Given the description of an element on the screen output the (x, y) to click on. 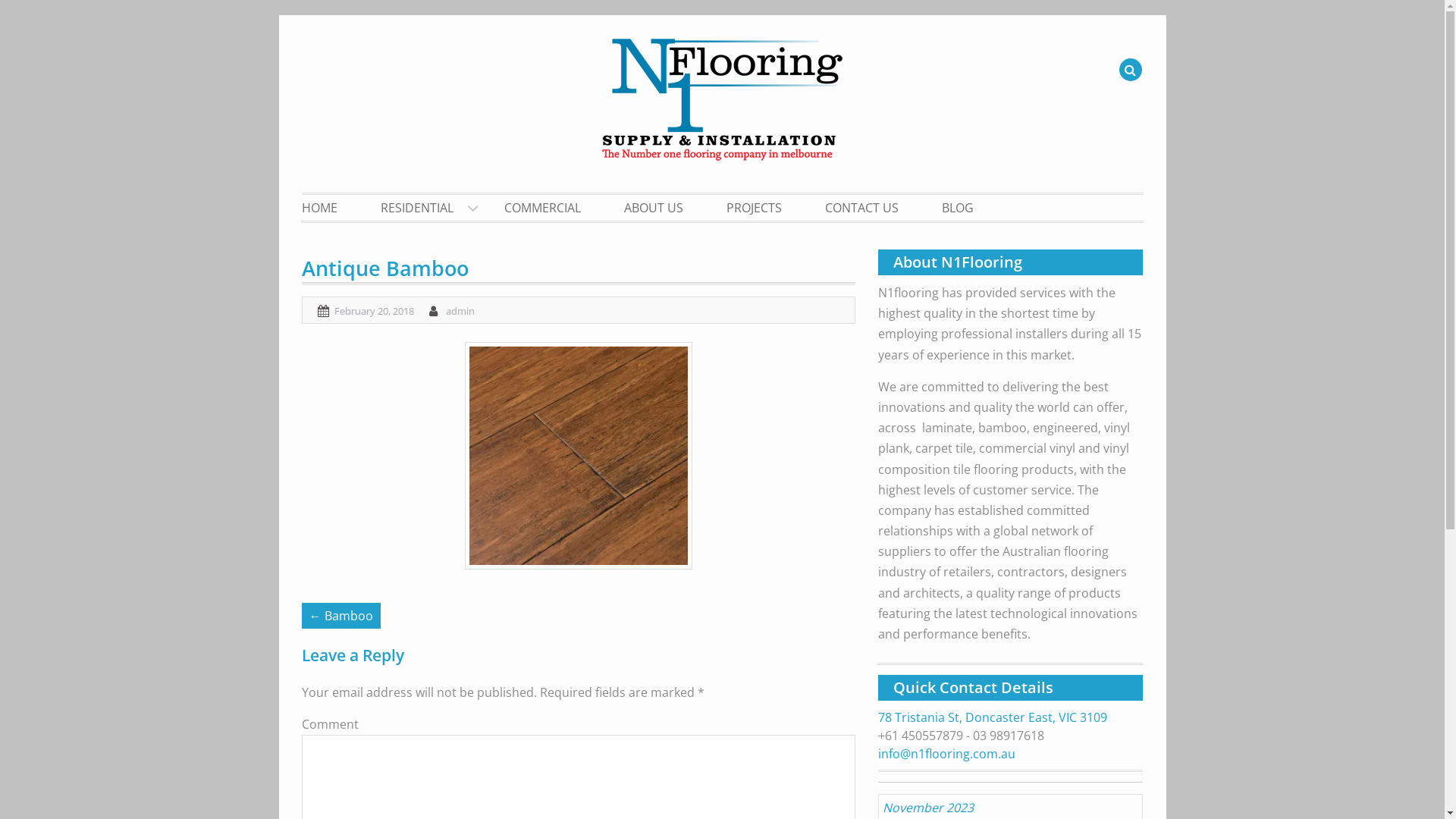
BLOG Element type: text (956, 207)
PROJECTS Element type: text (753, 207)
admin Element type: text (459, 309)
COMMERCIAL Element type: text (542, 207)
78 Tristania St, Doncaster East, VIC 3109 Element type: text (992, 717)
Skip to content Element type: text (301, 15)
RESIDENTIAL Element type: text (419, 207)
info@n1flooring.com.au Element type: text (946, 753)
HOME Element type: text (328, 207)
CONTACT US Element type: text (860, 207)
ABOUT US Element type: text (653, 207)
February 20, 2018 Element type: text (373, 309)
